Given the description of an element on the screen output the (x, y) to click on. 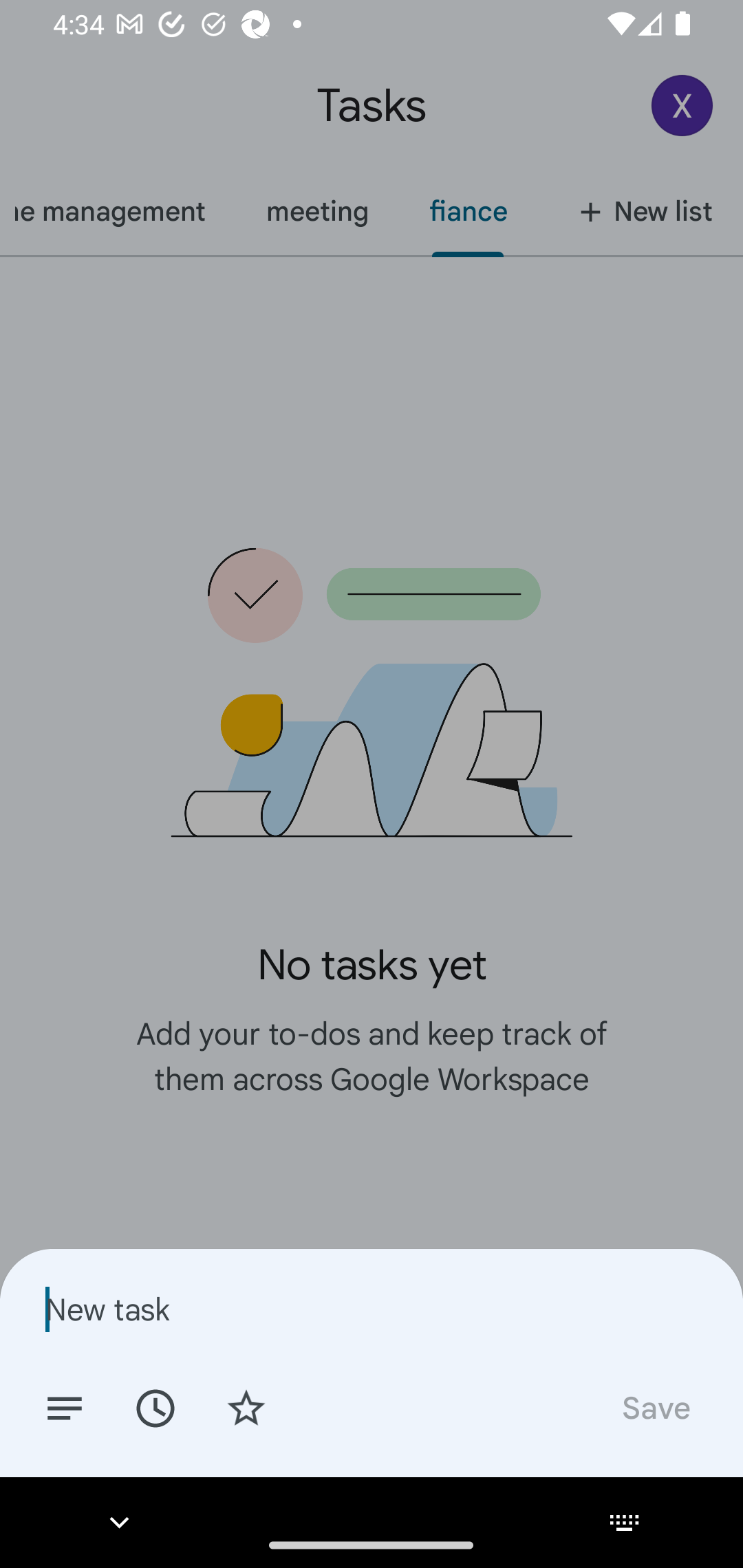
New task (371, 1308)
Save (655, 1407)
Add details (64, 1407)
Set date/time (154, 1407)
Add star (245, 1407)
